Given the description of an element on the screen output the (x, y) to click on. 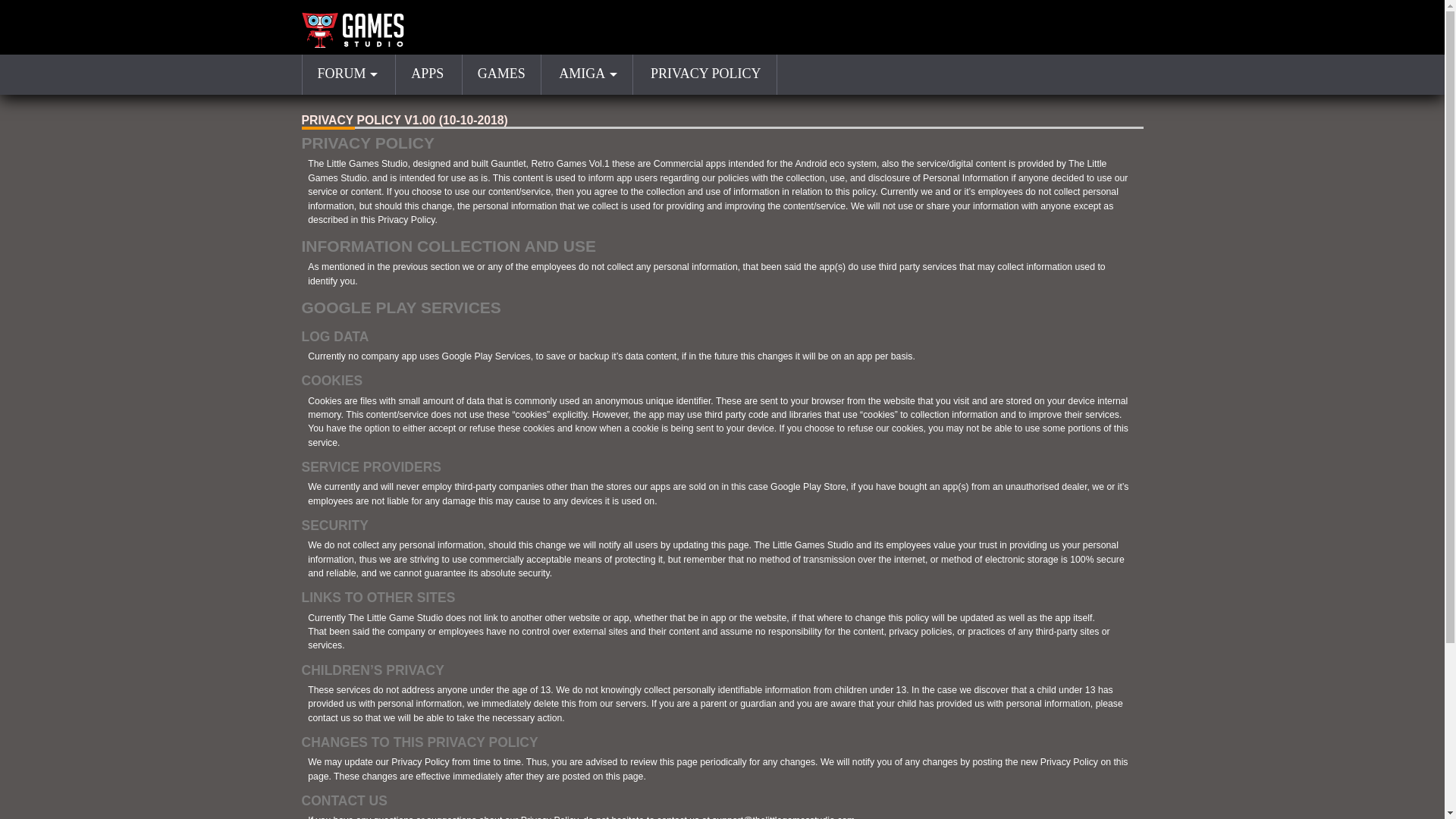
AMIGA (587, 73)
APPS (427, 73)
PRIVACY POLICY (705, 73)
FORUM (347, 73)
GAMES (501, 73)
